Given the description of an element on the screen output the (x, y) to click on. 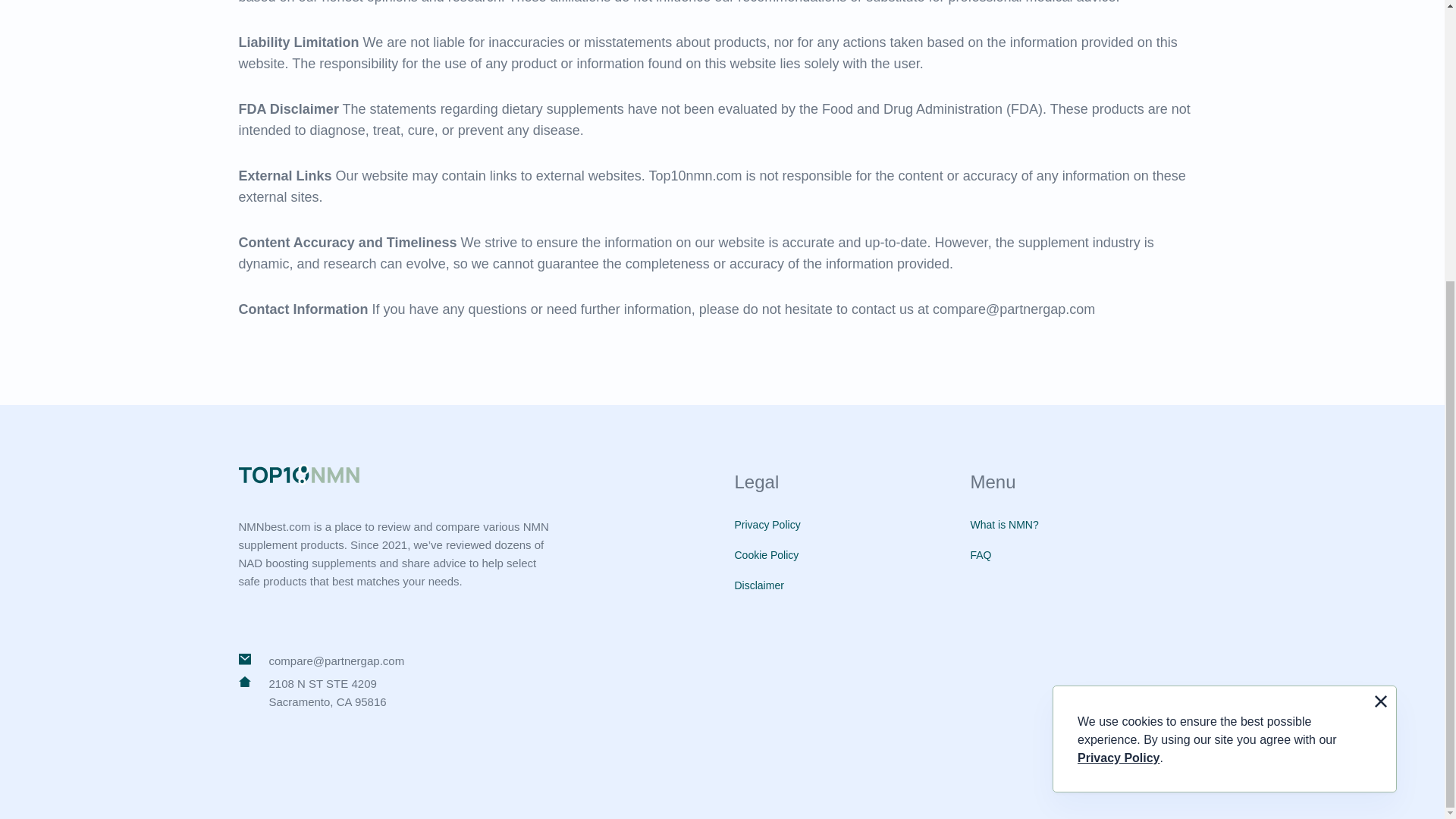
Cookie Policy (765, 554)
Privacy Policy (1118, 337)
FAQ (981, 554)
Privacy Policy (766, 524)
Disclaimer (758, 585)
What is NMN? (1005, 524)
